Given the description of an element on the screen output the (x, y) to click on. 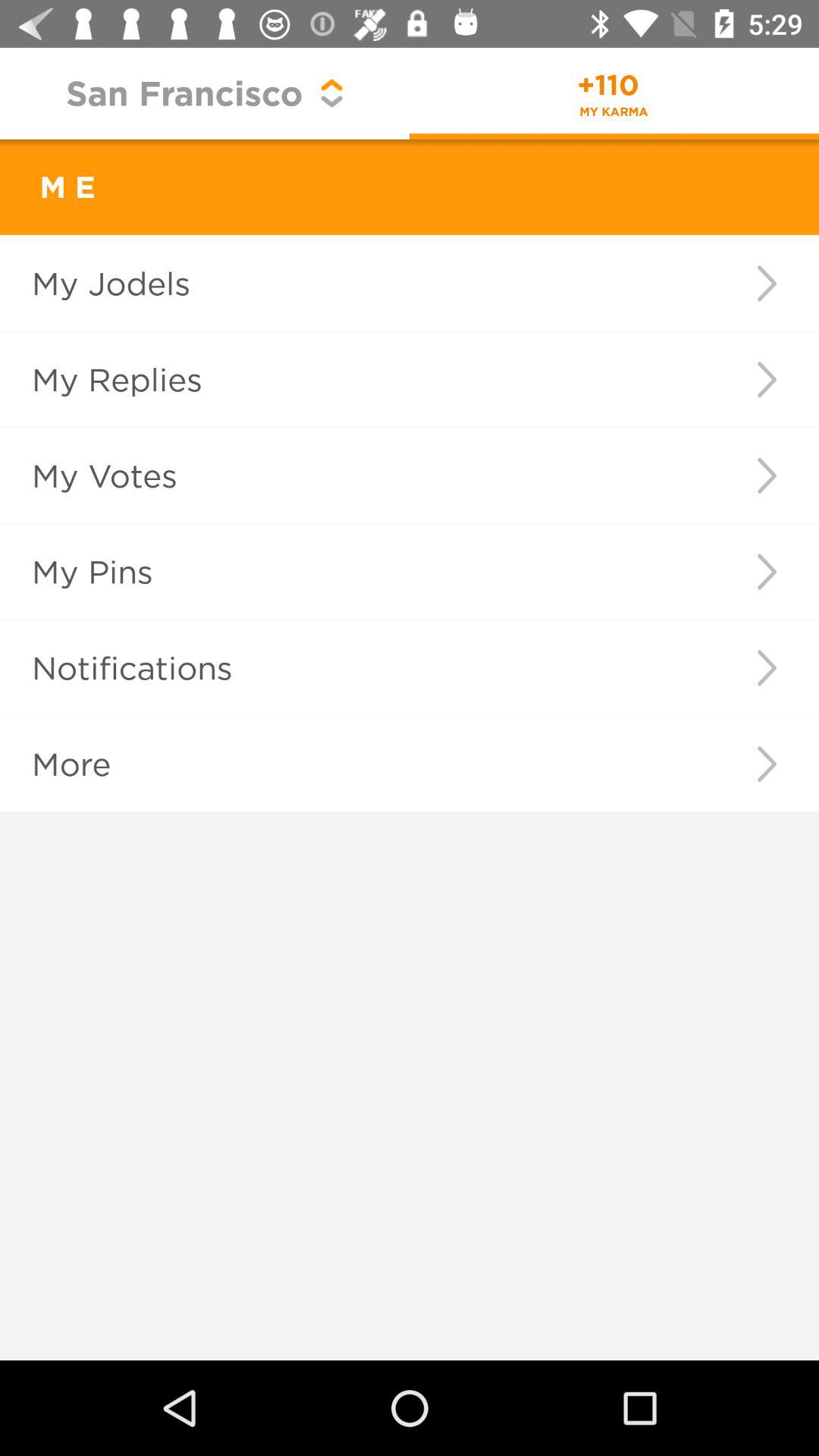
select item above notifications item (766, 571)
